Given the description of an element on the screen output the (x, y) to click on. 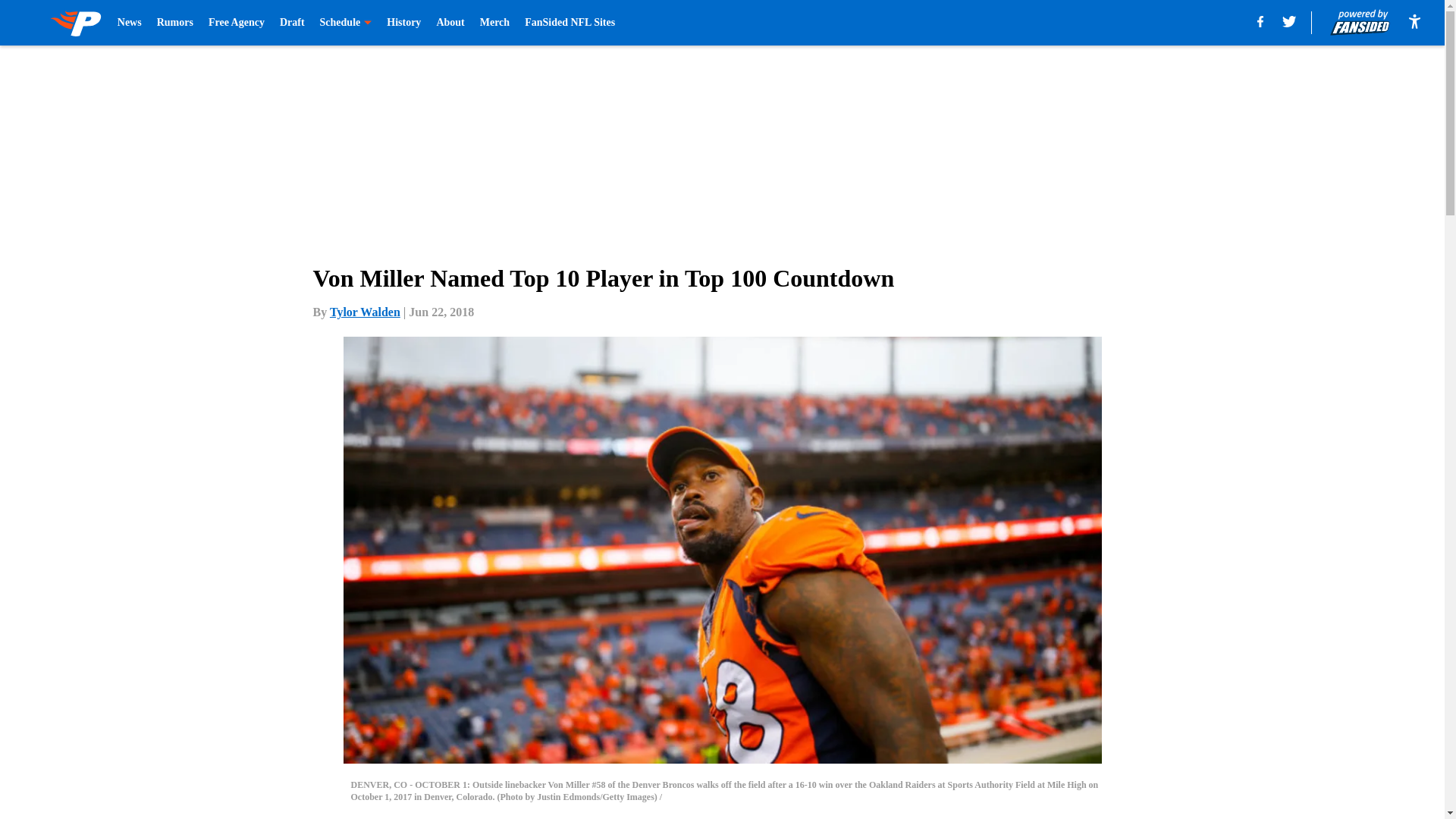
About (449, 22)
Merch (494, 22)
Rumors (175, 22)
Free Agency (236, 22)
Draft (291, 22)
News (129, 22)
FanSided NFL Sites (569, 22)
History (403, 22)
Tylor Walden (365, 311)
